Given the description of an element on the screen output the (x, y) to click on. 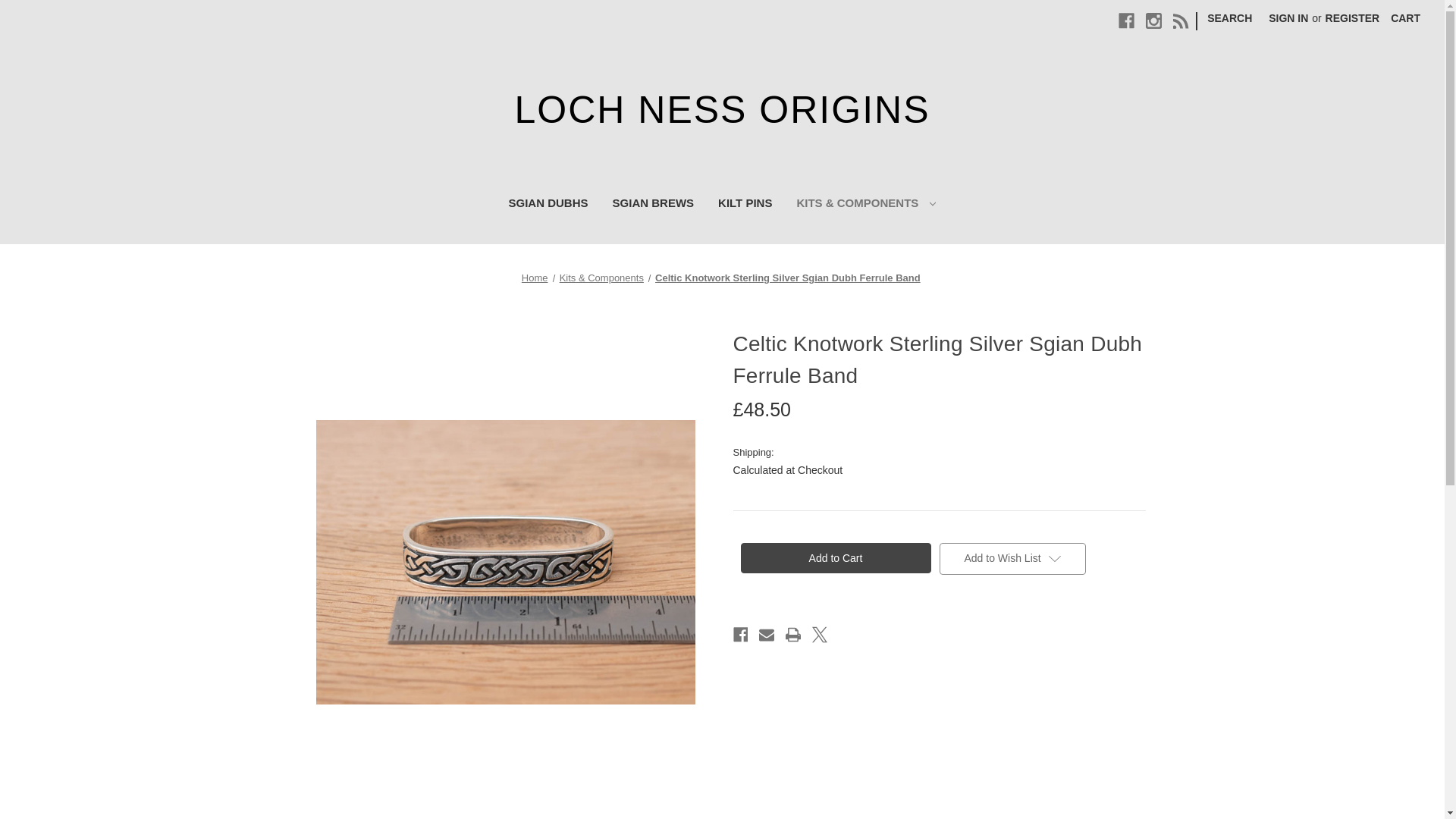
Home (534, 277)
LOCH NESS ORIGINS (721, 109)
KILT PINS (745, 204)
Add to Cart (834, 557)
SIGN IN (1288, 18)
CART (1404, 18)
Facebook (1126, 20)
REGISTER (1353, 18)
SEARCH (1229, 18)
Add to Cart (834, 557)
